Given the description of an element on the screen output the (x, y) to click on. 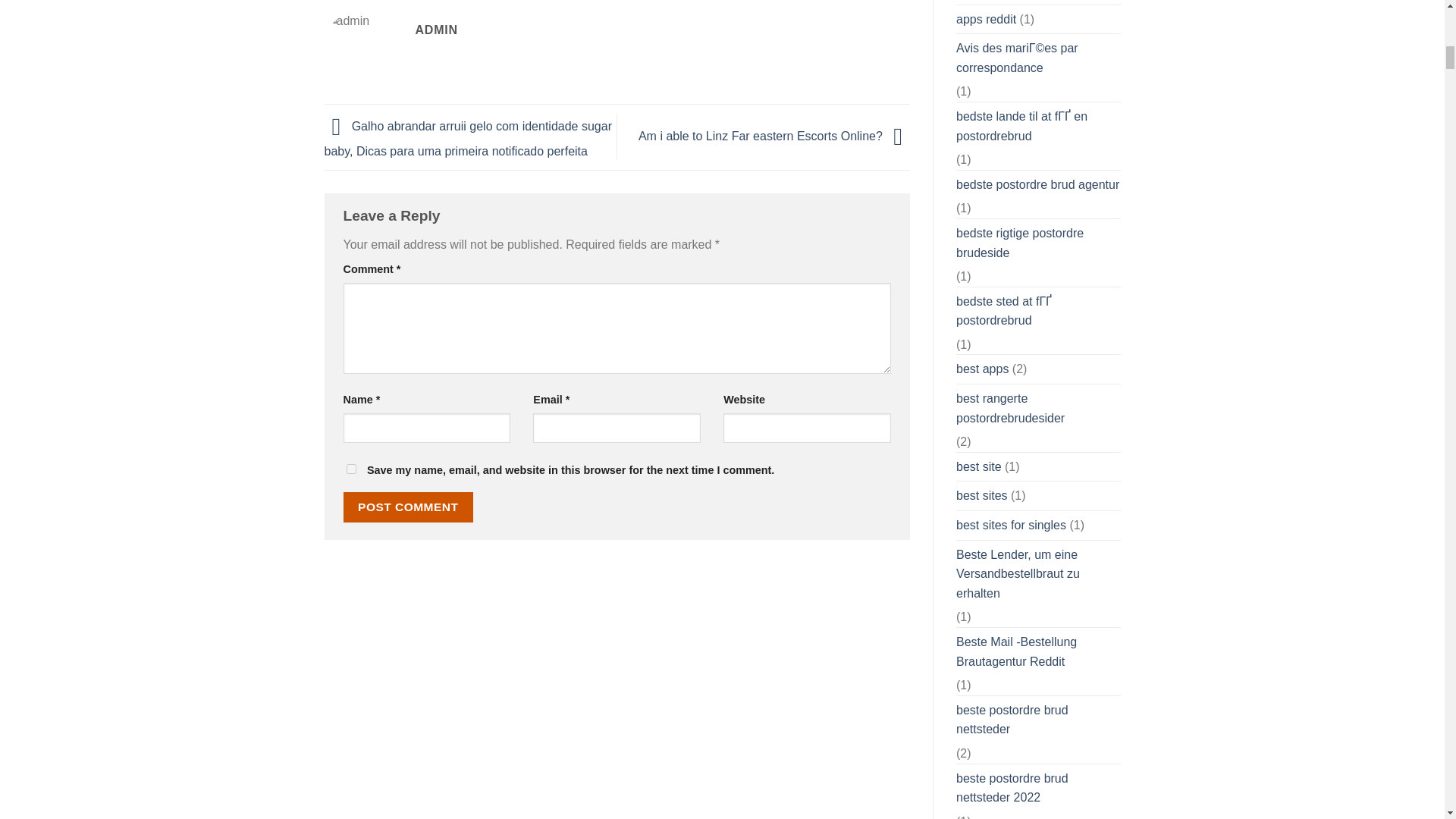
Post Comment (407, 506)
yes (350, 469)
Am i able to Linz Far eastern Escorts Online? (774, 135)
Post Comment (407, 506)
